Given the description of an element on the screen output the (x, y) to click on. 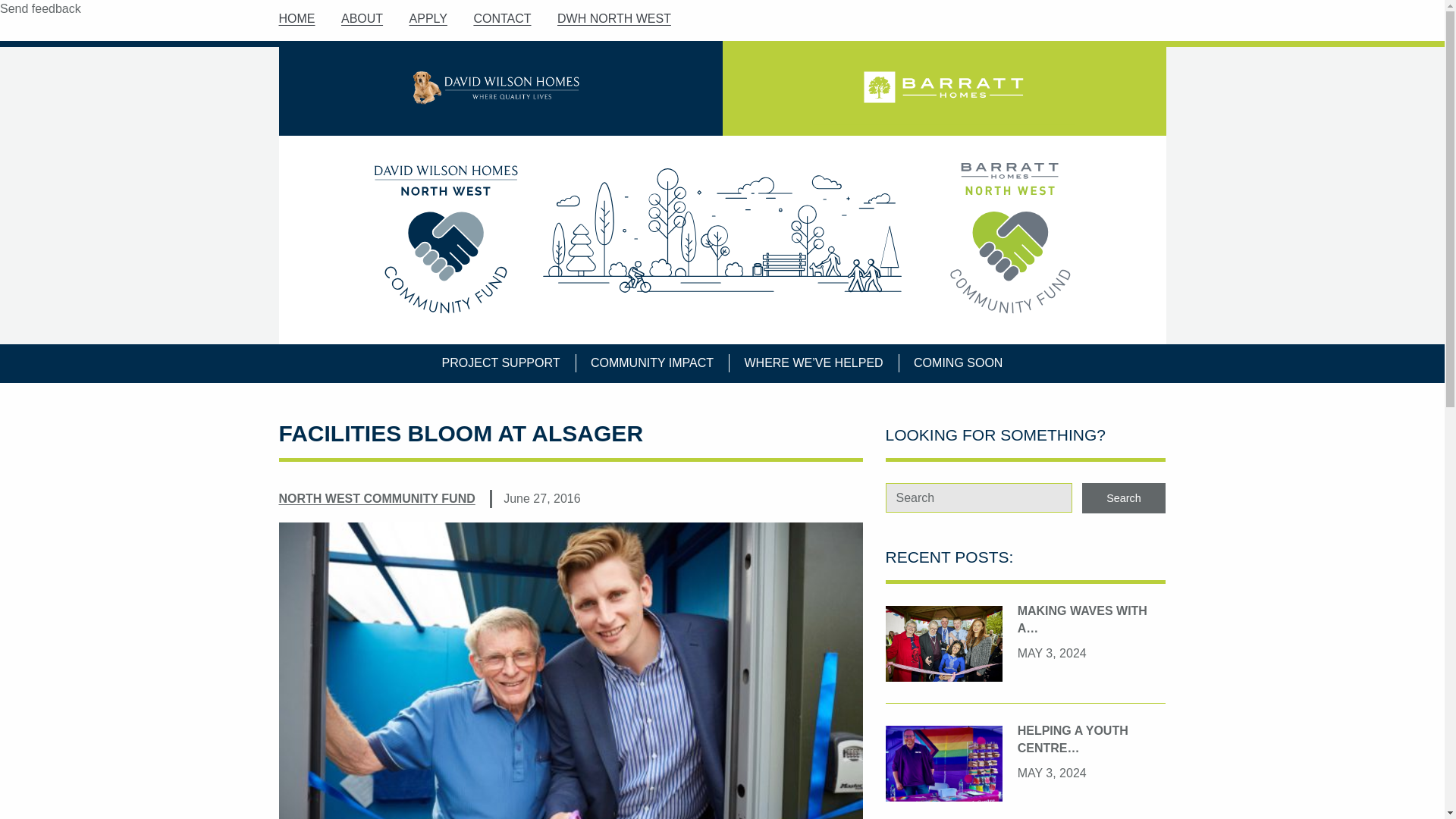
ABOUT (361, 18)
COMING SOON (958, 362)
HOME (297, 18)
Search (1123, 497)
APPLY (427, 18)
Search for: (979, 497)
CONTACT (502, 18)
PROJECT SUPPORT (501, 362)
DWH NORTH WEST (614, 18)
Search (1123, 497)
